Given the description of an element on the screen output the (x, y) to click on. 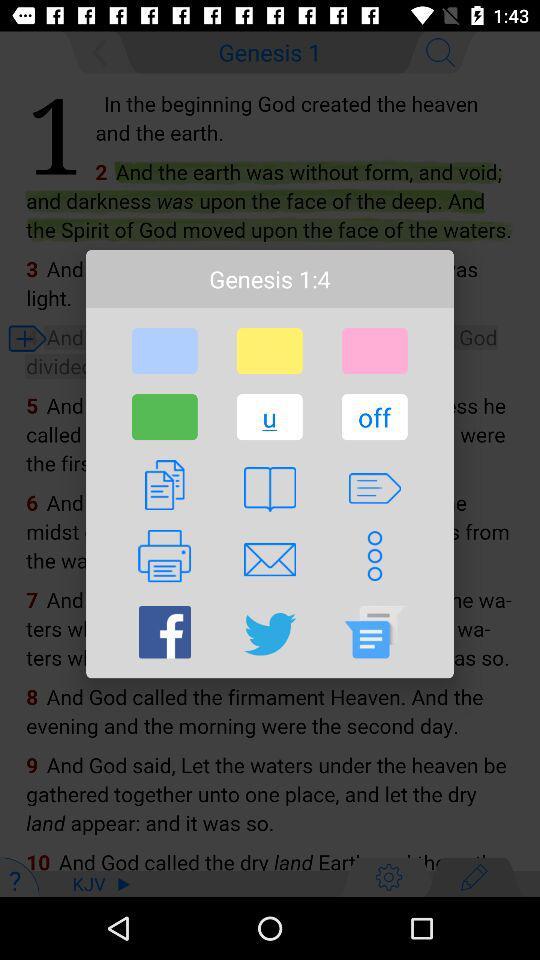
press the icon next to u icon (164, 417)
